Given the description of an element on the screen output the (x, y) to click on. 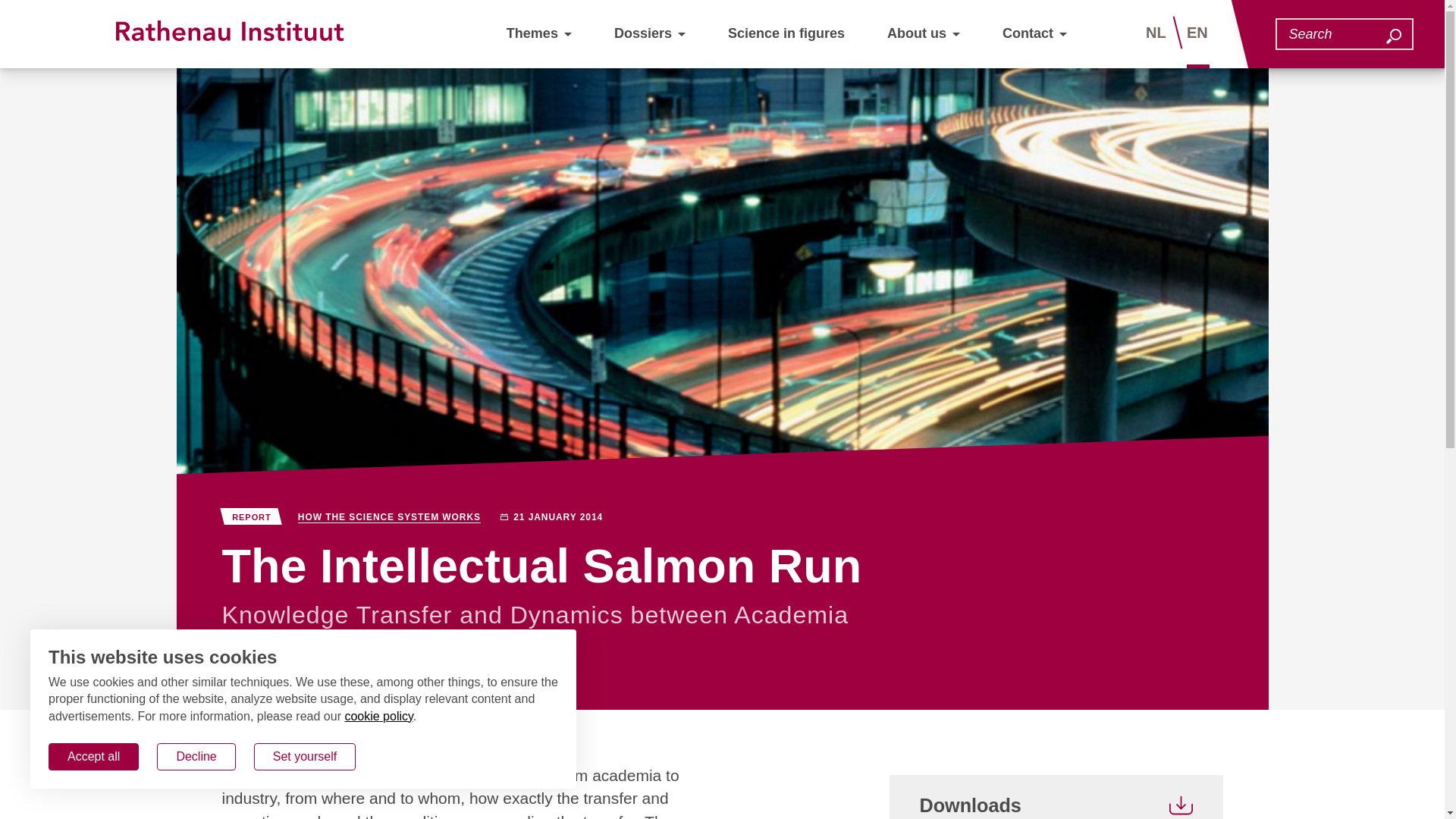
Search (1393, 36)
Home (236, 730)
HOW THE SCIENCE SYSTEM WORKS (389, 516)
Science in figures (786, 33)
Enter the terms you wish to search for. (1334, 33)
